Given the description of an element on the screen output the (x, y) to click on. 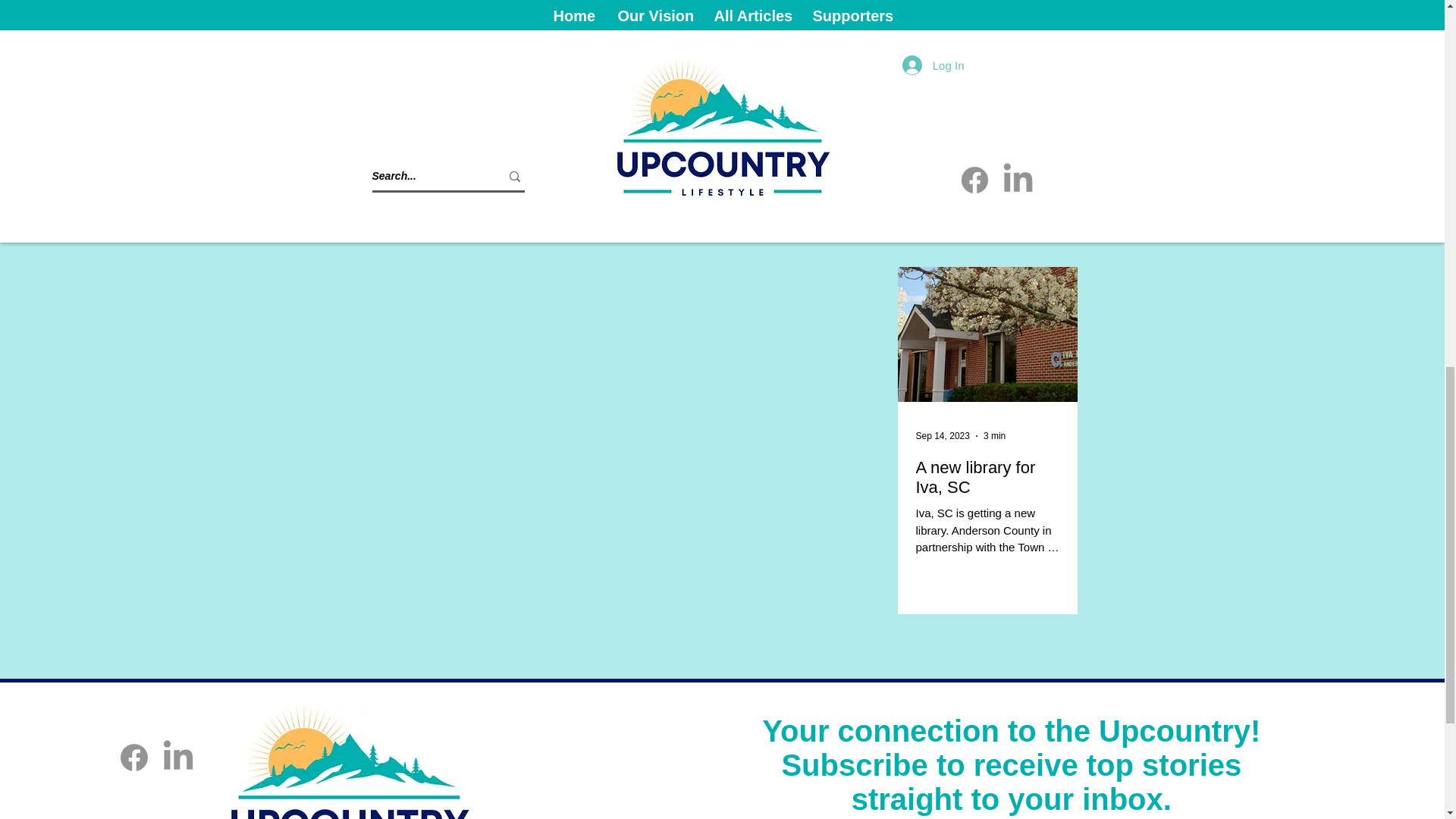
A new library for Iva, SC (987, 477)
1 min (995, 63)
3 min (995, 435)
Sep 14, 2023 (942, 435)
Sep 20, 2023 (942, 63)
